Given the description of an element on the screen output the (x, y) to click on. 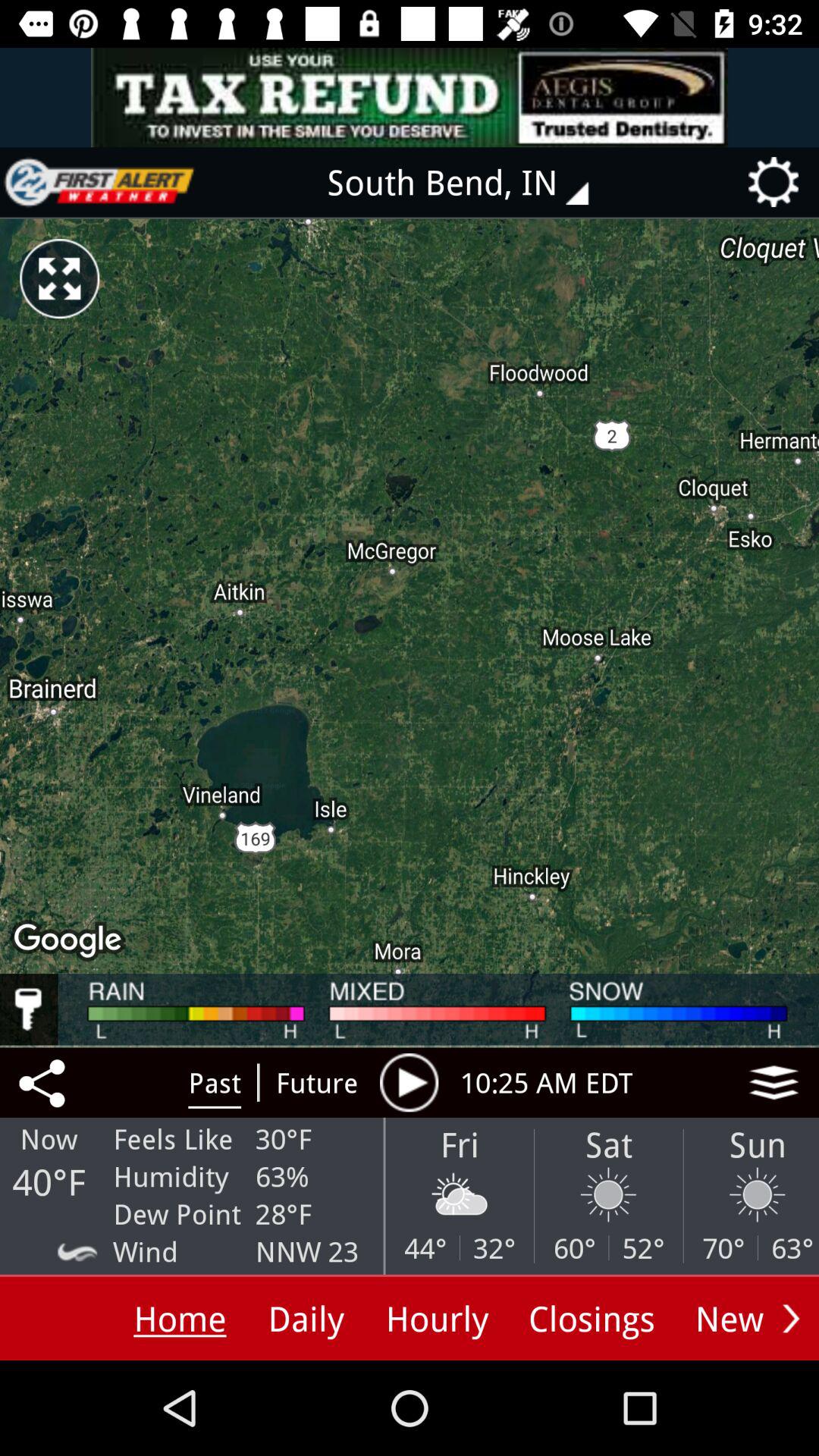
visit advertisement (409, 97)
